Given the description of an element on the screen output the (x, y) to click on. 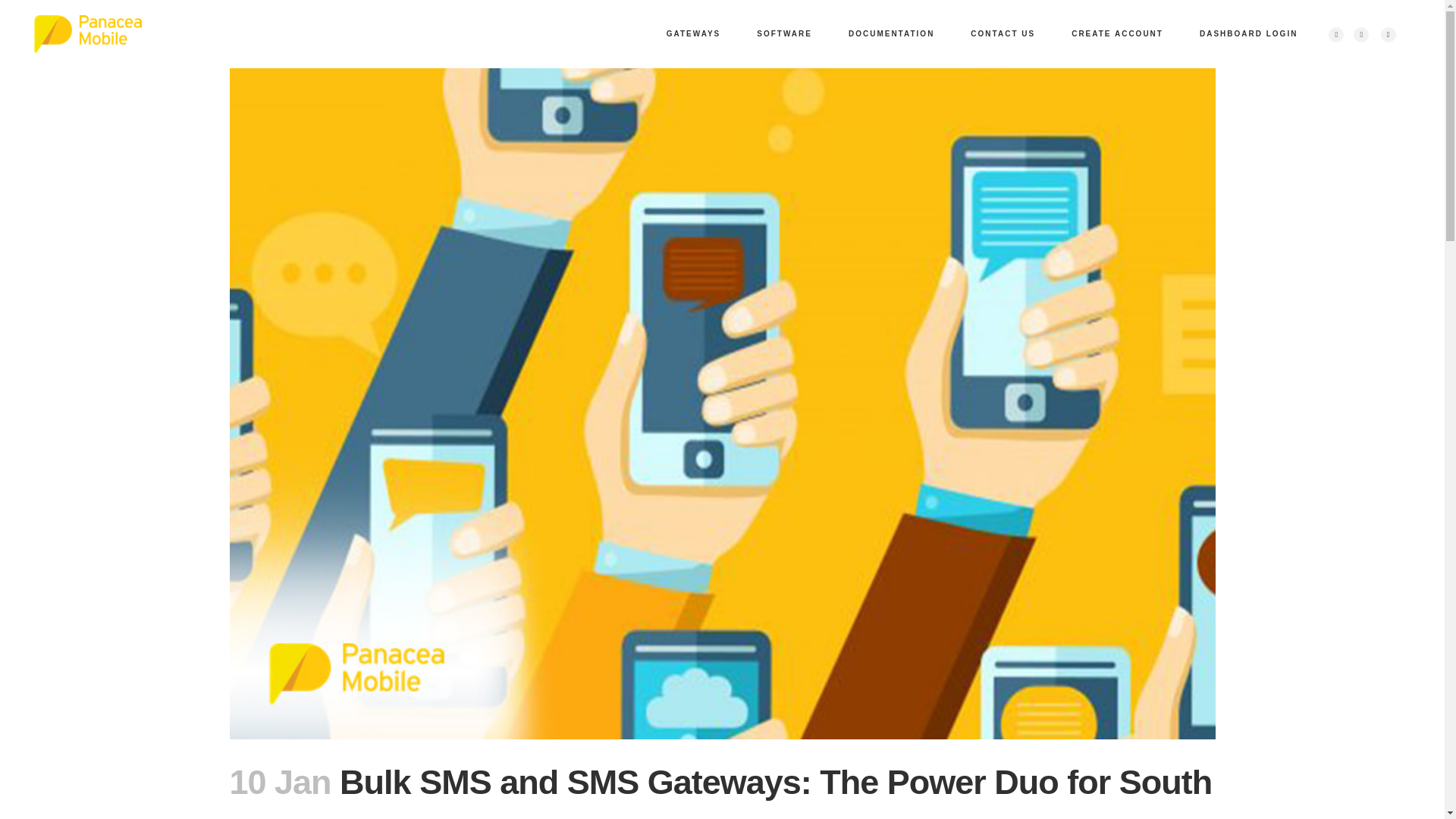
CREATE ACCOUNT (1116, 33)
DOCUMENTATION (890, 33)
DASHBOARD LOGIN (1248, 33)
SOFTWARE (783, 33)
GATEWAYS (693, 33)
CONTACT US (1002, 33)
